Given the description of an element on the screen output the (x, y) to click on. 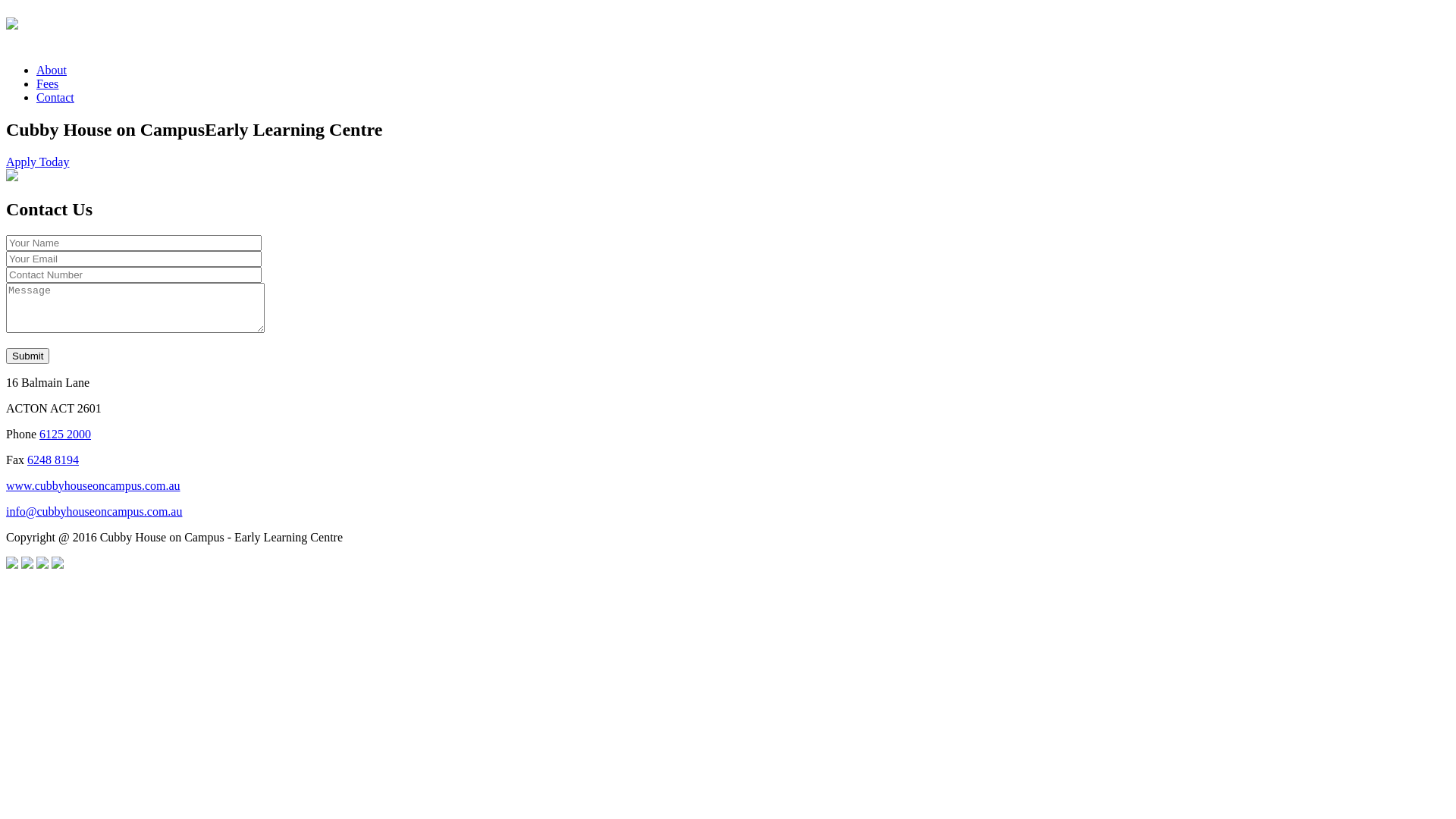
Apply Today Element type: text (37, 161)
Submit Element type: text (27, 356)
6248 8194 Element type: text (52, 459)
Fees Element type: text (47, 83)
Contact Element type: text (55, 97)
About Element type: text (51, 69)
www.cubbyhouseoncampus.com.au Element type: text (93, 485)
6125 2000 Element type: text (65, 433)
info@cubbyhouseoncampus.com.au Element type: text (94, 511)
